Given the description of an element on the screen output the (x, y) to click on. 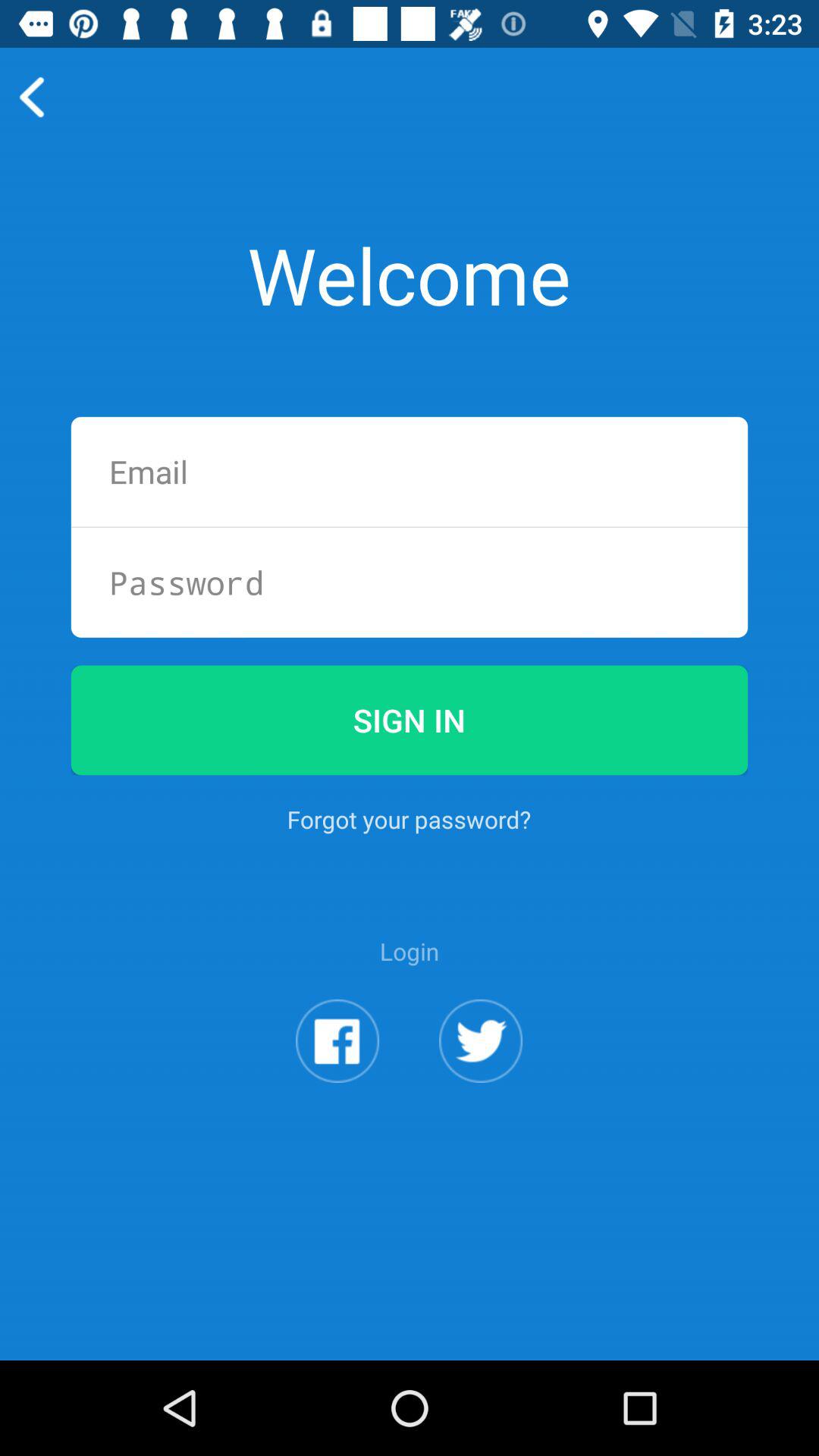
select facebook (337, 1040)
